Given the description of an element on the screen output the (x, y) to click on. 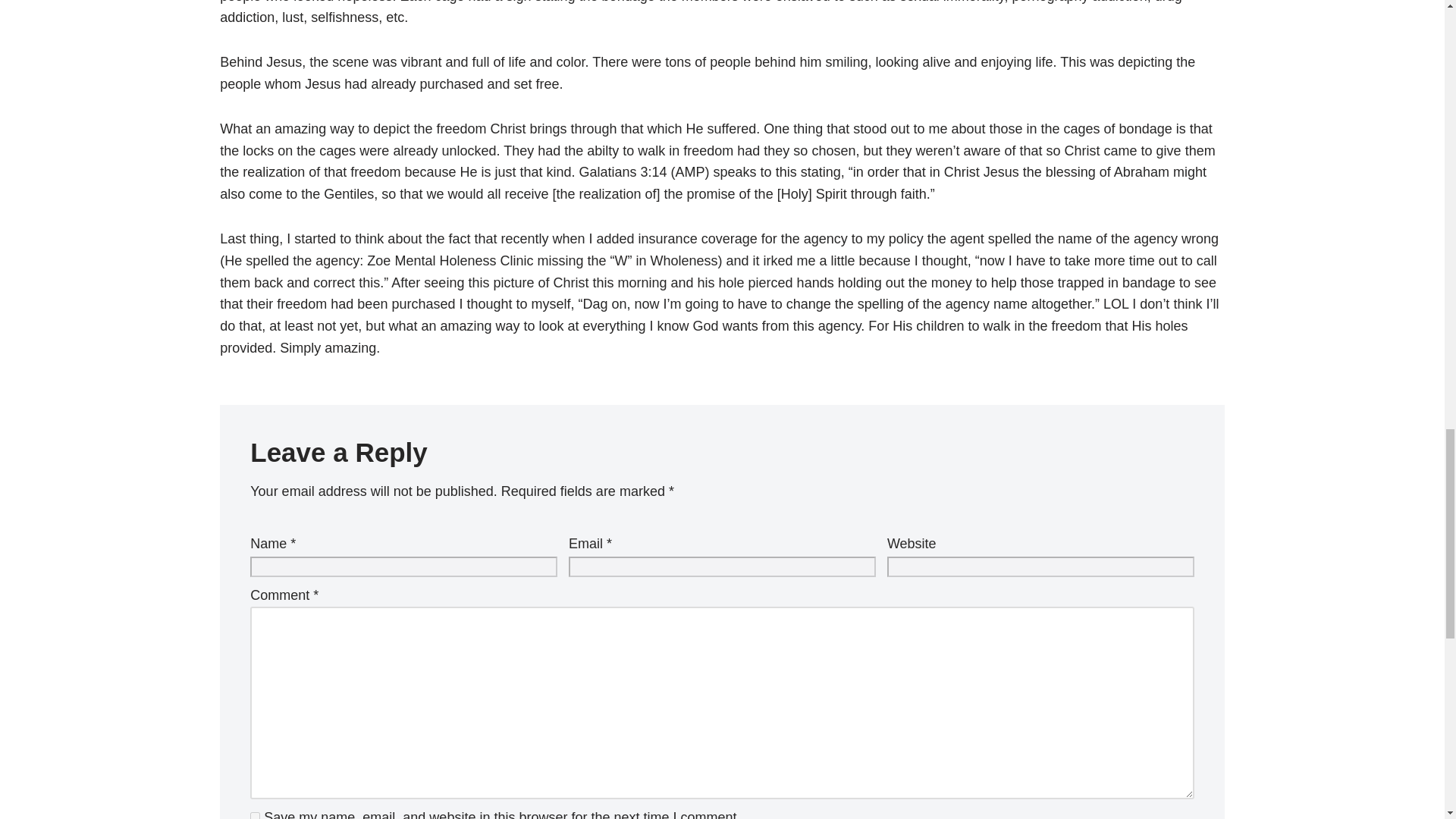
yes (255, 815)
